Given the description of an element on the screen output the (x, y) to click on. 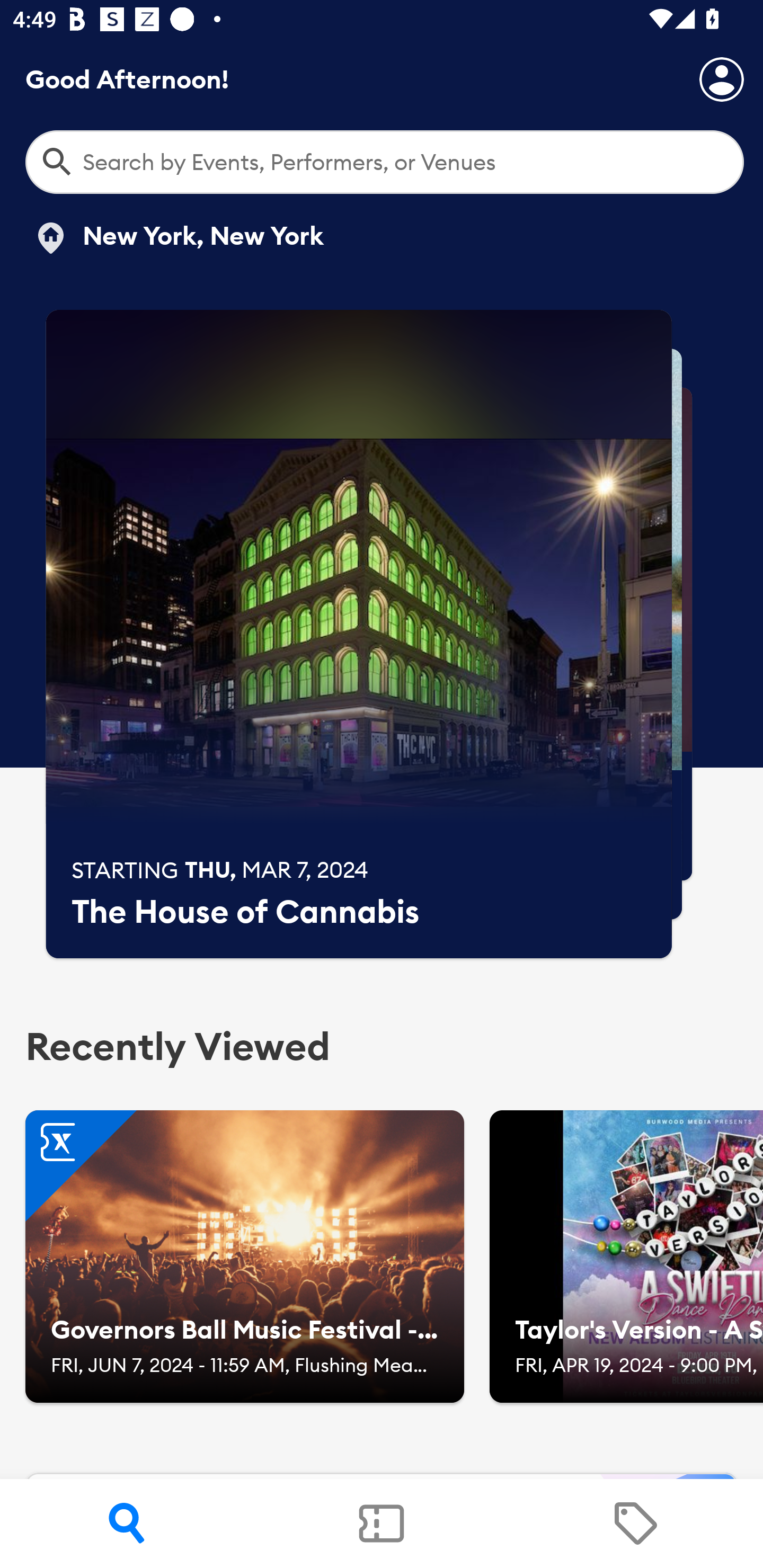
UserIcon (721, 78)
Search by Events, Performers, or Venues (384, 161)
New York, New York (177, 237)
STARTING THU, MAR 7, 2024 The House of Cannabis (358, 634)
Menu Item: Tickets (381, 1523)
Menu Item: Resale (635, 1523)
